Given the description of an element on the screen output the (x, y) to click on. 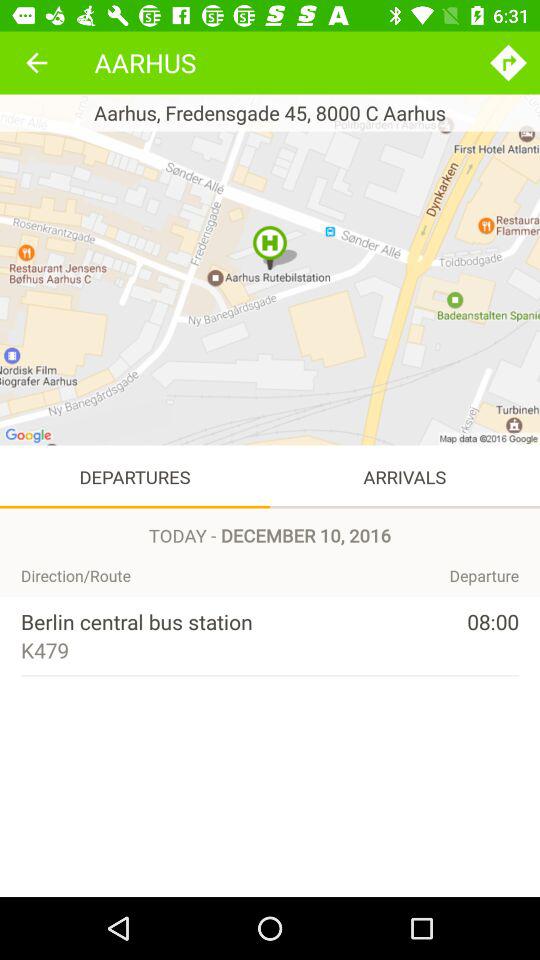
turn off the icon to the left of aarhus item (36, 62)
